Given the description of an element on the screen output the (x, y) to click on. 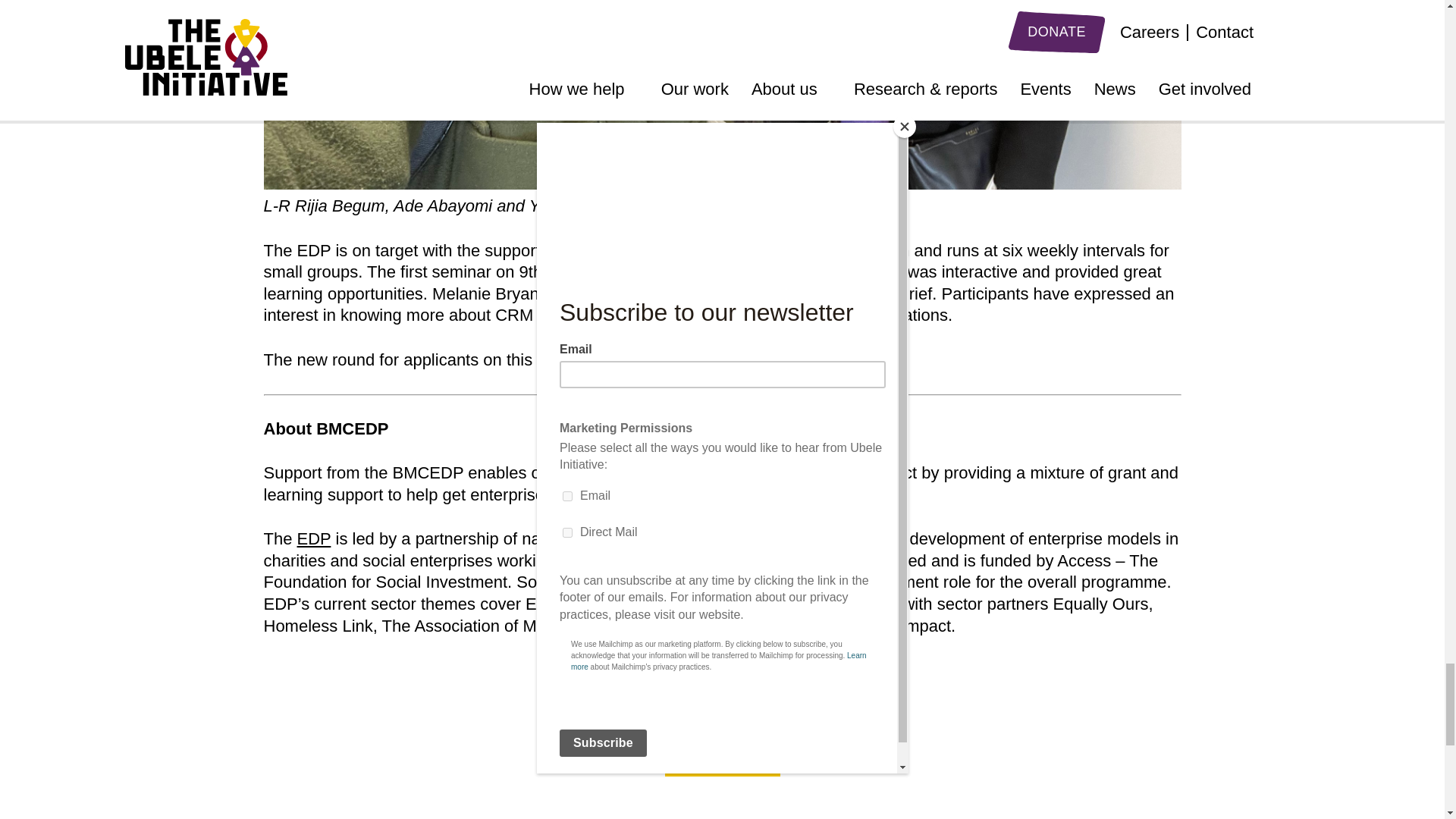
EDP (314, 538)
See all (720, 755)
